Given the description of an element on the screen output the (x, y) to click on. 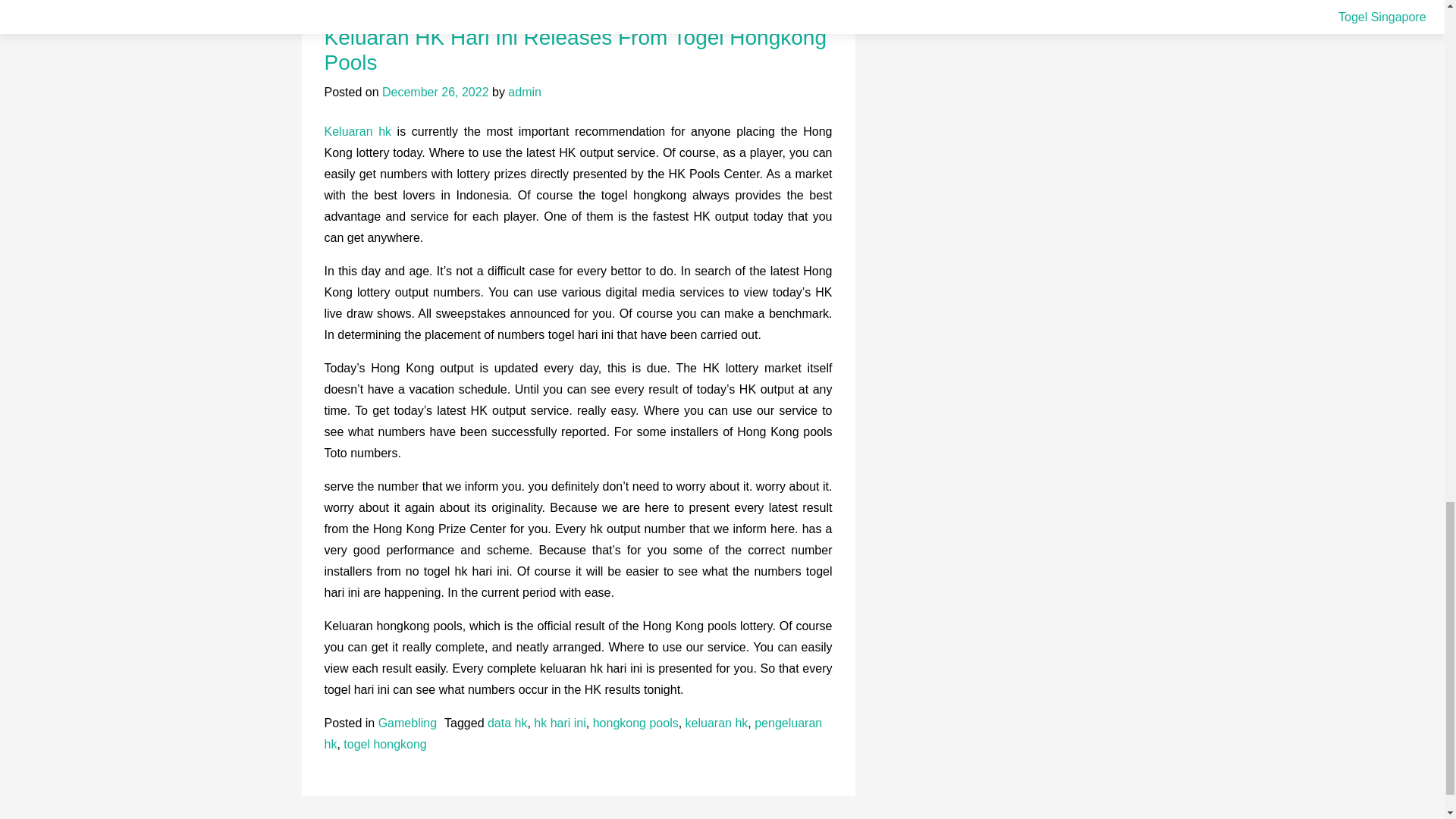
result hk malam ini (465, 1)
Keluaran hk (357, 131)
Gamebling (407, 722)
togel hk (770, 1)
keluaran hk (716, 722)
admin (524, 91)
data hk (507, 722)
result hk hari ini (366, 1)
December 26, 2022 (435, 91)
result hongkong hari ini (678, 1)
